Given the description of an element on the screen output the (x, y) to click on. 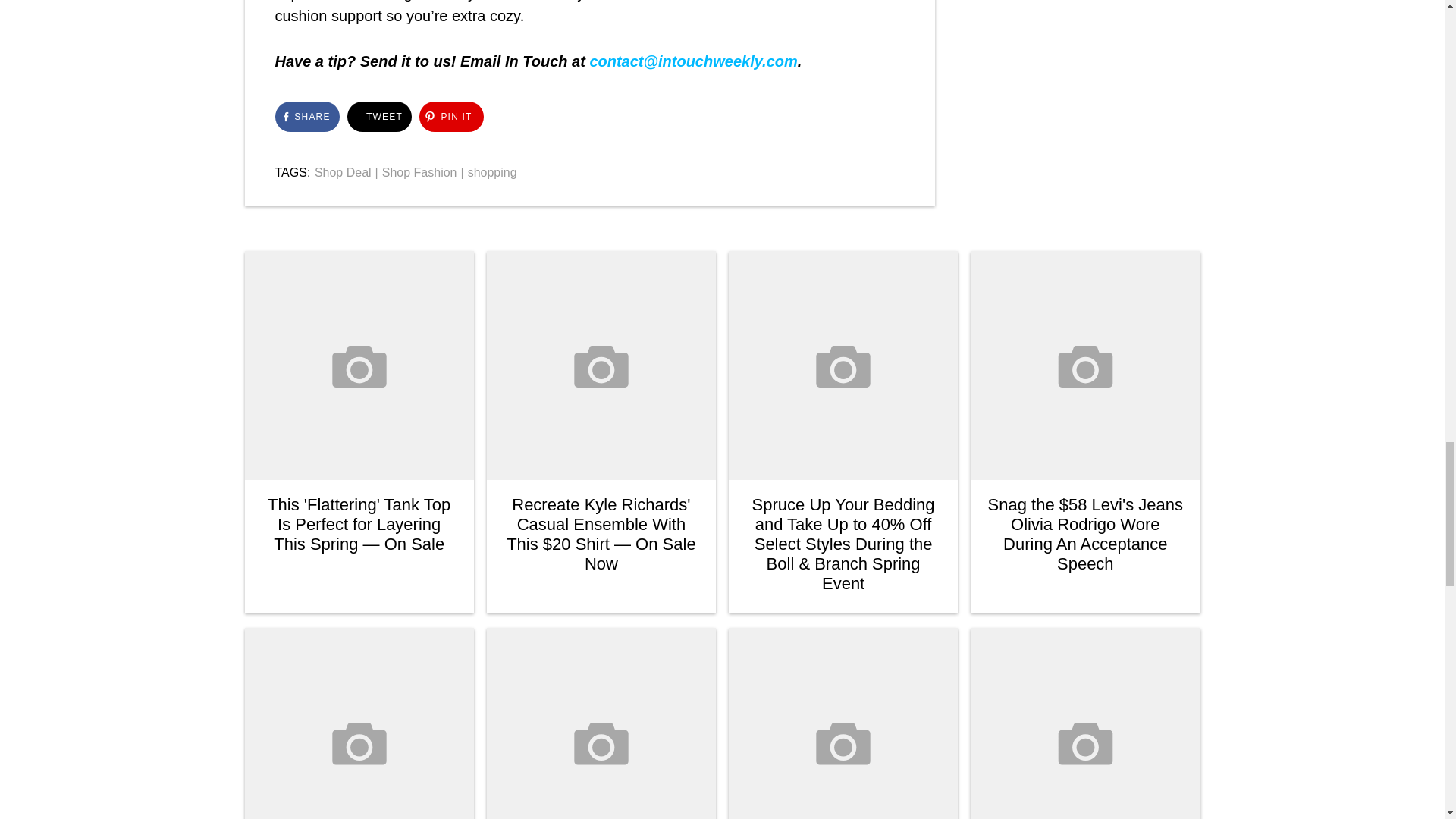
Click to share on Facebook (307, 116)
Click to share on Twitter (379, 116)
Click to share on Pinterest (451, 116)
